Given the description of an element on the screen output the (x, y) to click on. 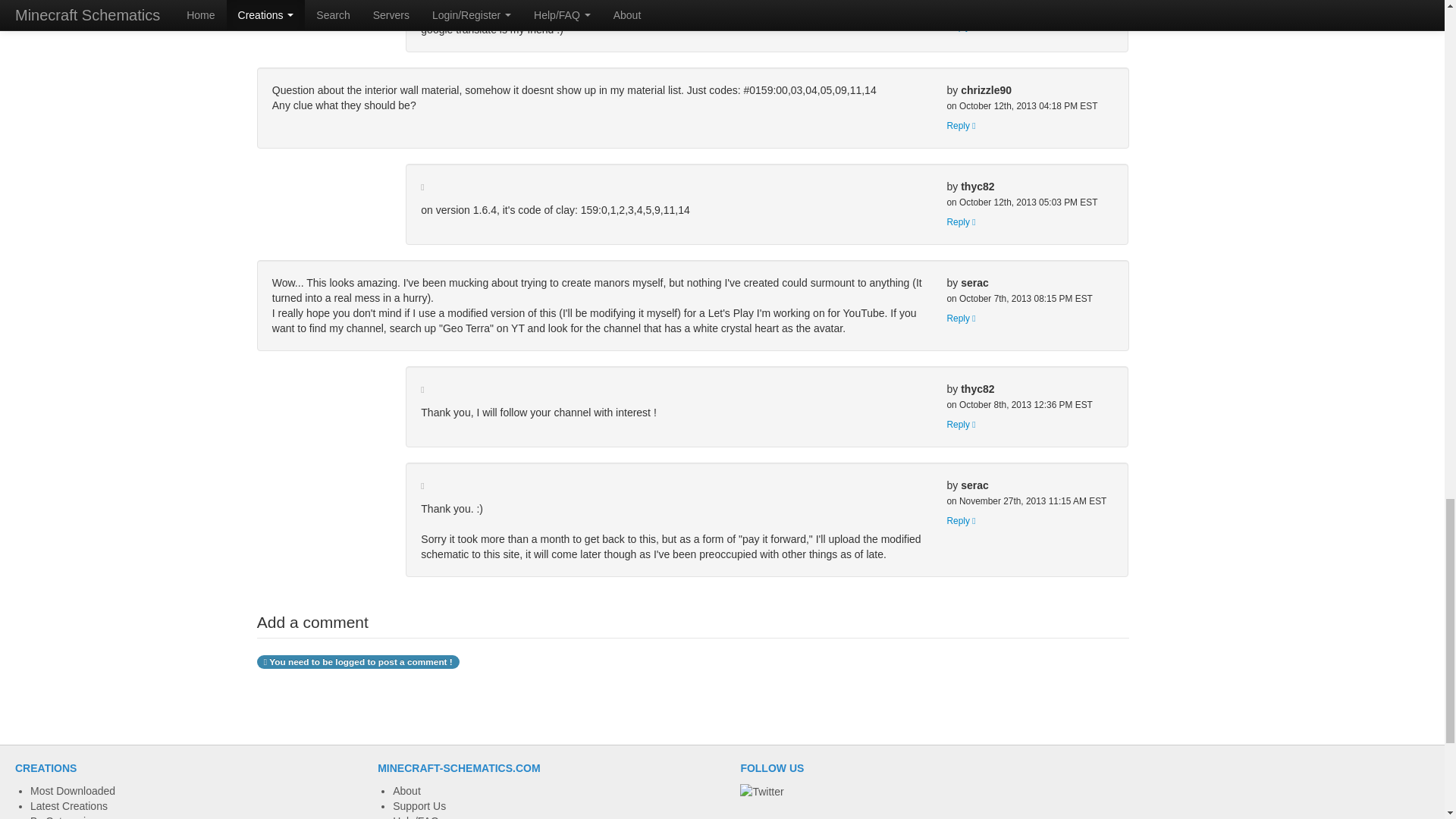
Reply (960, 26)
Twitter (761, 791)
Reply (960, 317)
Reply (960, 125)
Reply (960, 424)
Reply (960, 520)
Reply (960, 222)
